Given the description of an element on the screen output the (x, y) to click on. 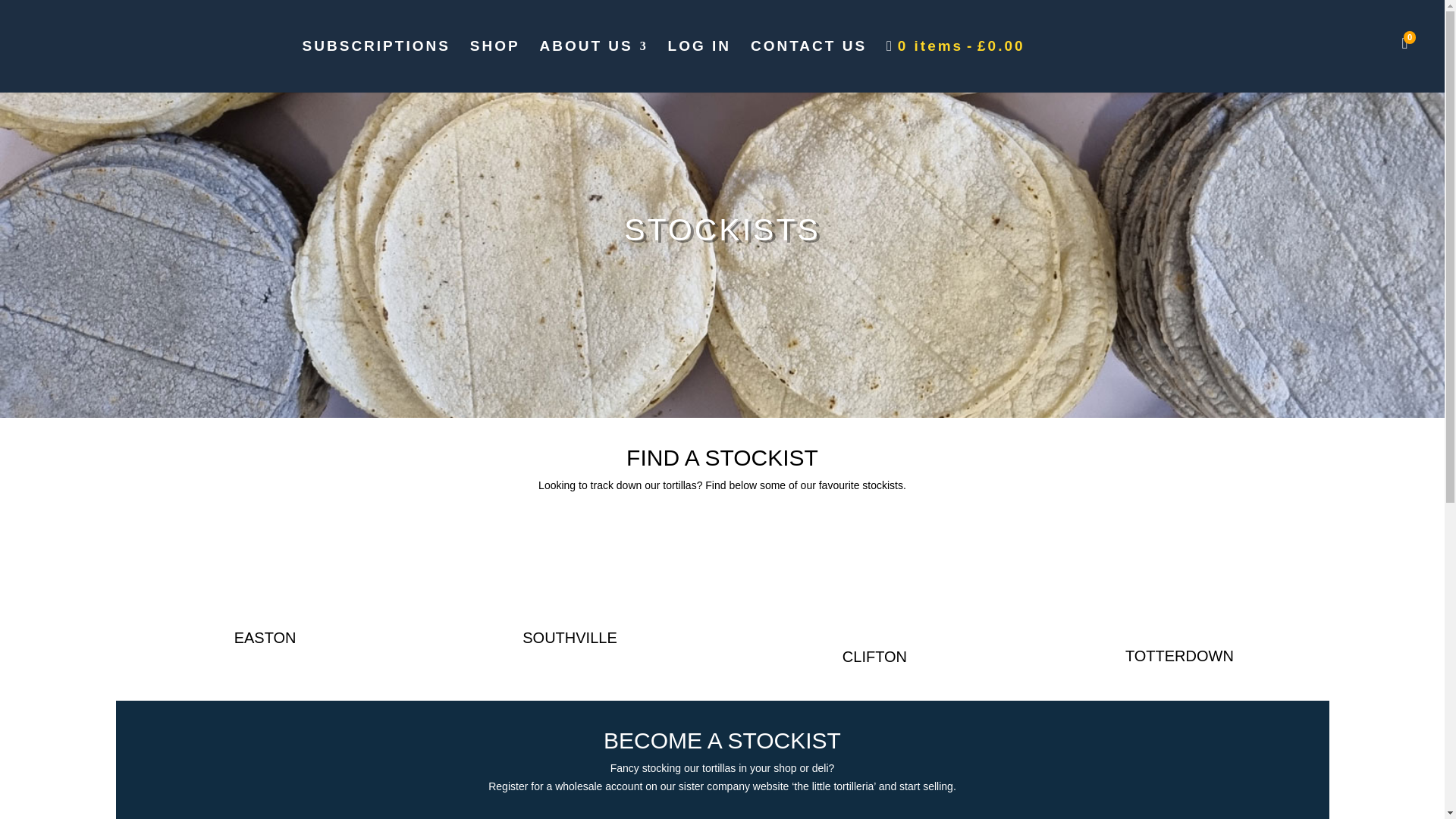
SUBSCRIPTIONS (375, 64)
ABOUT US (592, 64)
Public-Market-Logo (229, 575)
five-acre (534, 575)
Start shopping (955, 64)
SHOP (494, 64)
banana-boat-logo (1179, 584)
otomi logo (874, 584)
CONTACT US (808, 64)
LOG IN (699, 64)
